Given the description of an element on the screen output the (x, y) to click on. 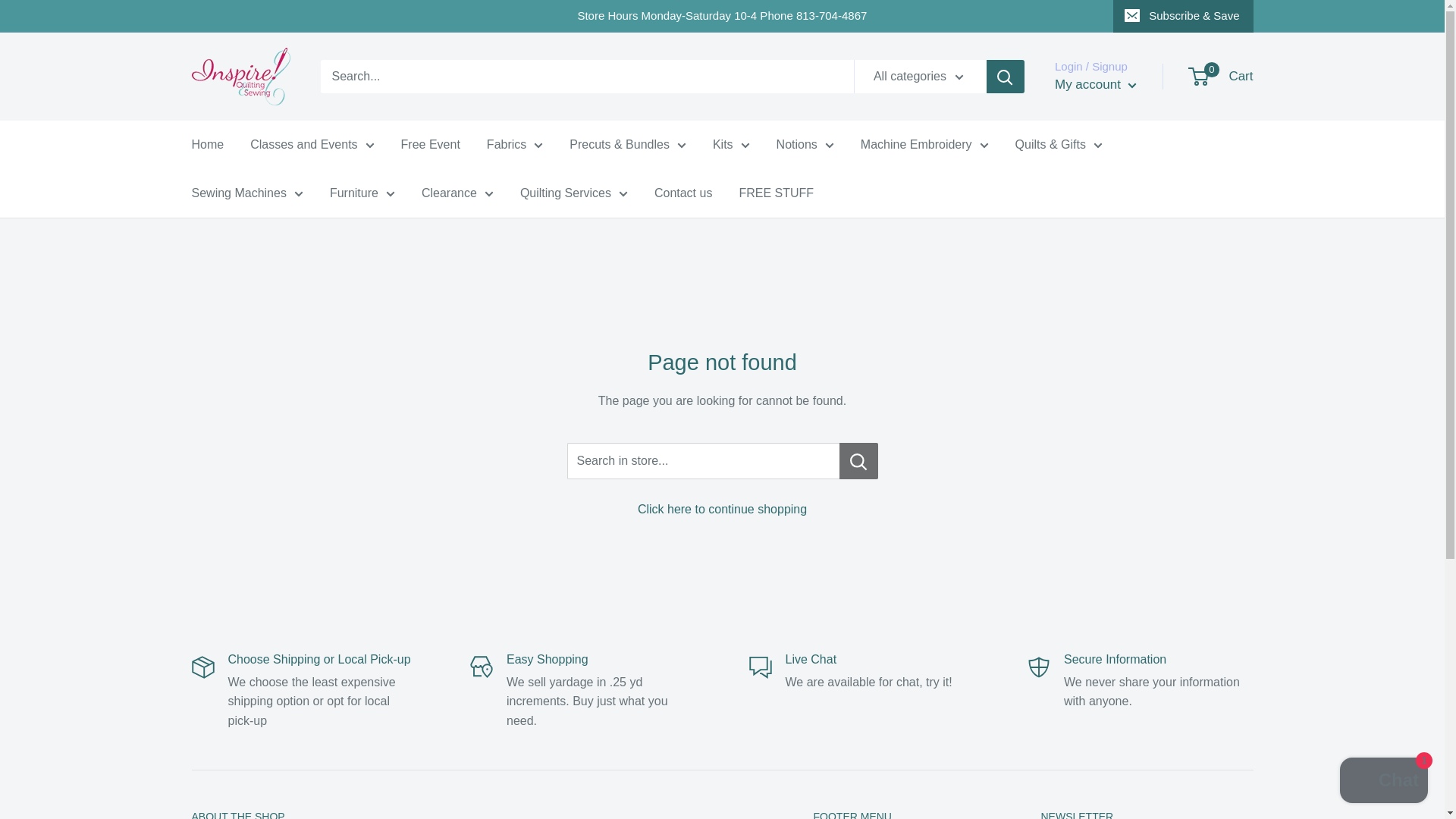
Shopify online store chat (1383, 781)
